Given the description of an element on the screen output the (x, y) to click on. 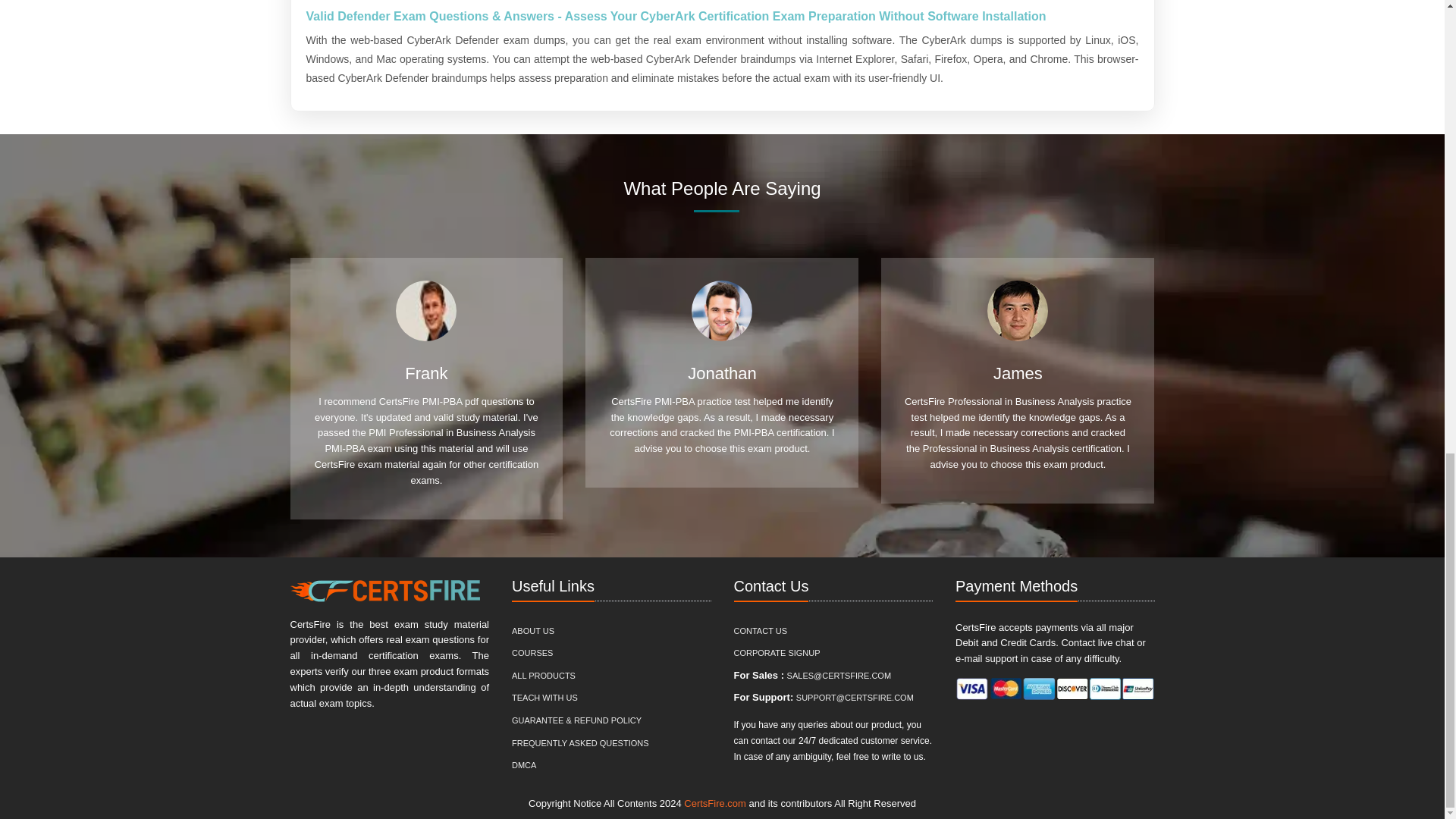
COURSES (532, 653)
TEACH WITH US (545, 698)
FREQUENTLY ASKED QUESTIONS (580, 743)
ABOUT US (533, 630)
ALL PRODUCTS (543, 676)
